Given the description of an element on the screen output the (x, y) to click on. 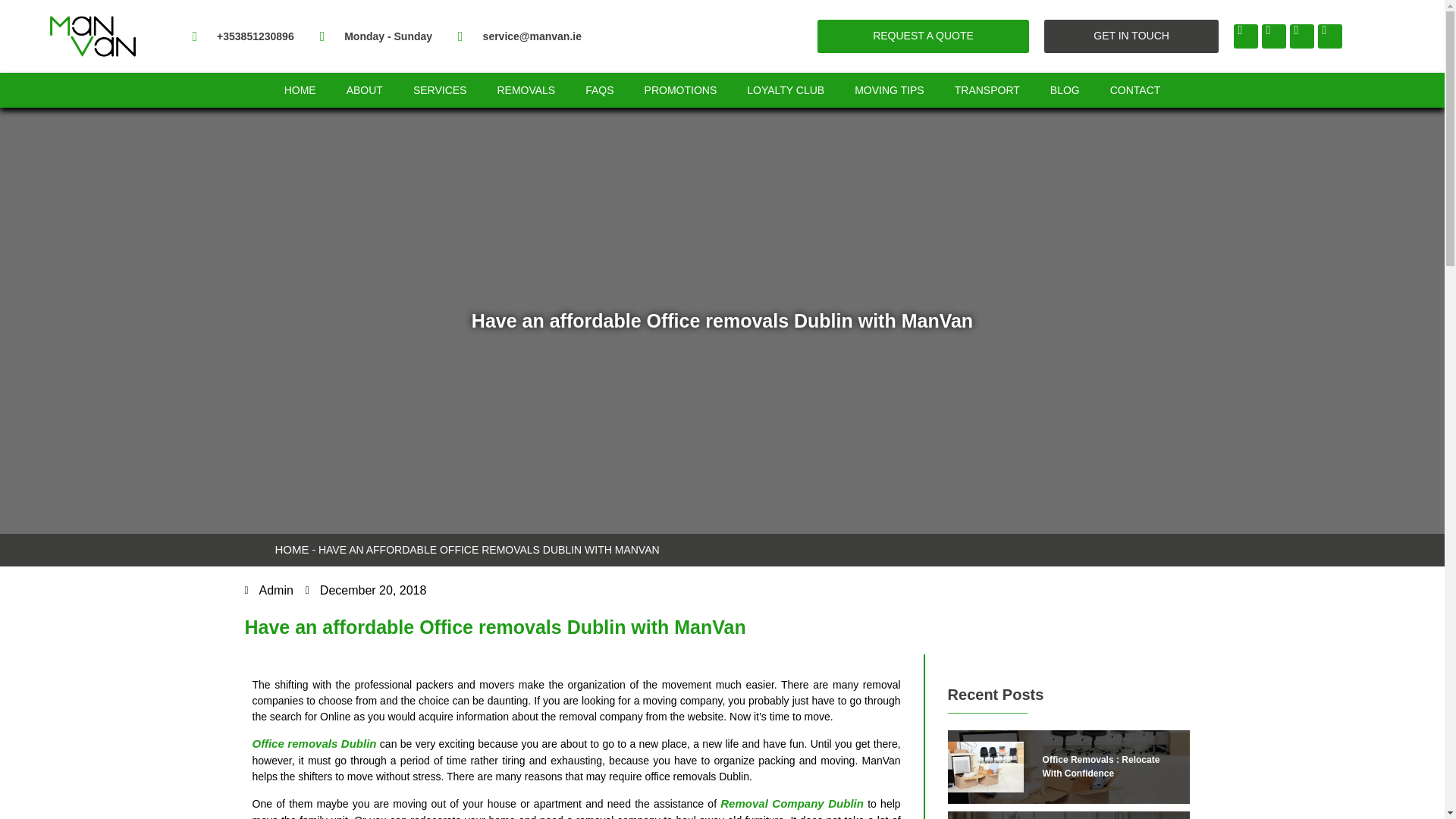
ABOUT (364, 89)
MOVING TIPS (889, 89)
Office Removals : Relocate With Confidence 1 (985, 767)
HOME (300, 89)
PROMOTIONS (680, 89)
GET IN TOUCH (1131, 36)
LOYALTY CLUB (786, 89)
BLOG (1064, 89)
TRANSPORT (987, 89)
SERVICES (439, 89)
REQUEST A QUOTE (921, 36)
REMOVALS (525, 89)
CONTACT (1135, 89)
FAQS (599, 89)
